Given the description of an element on the screen output the (x, y) to click on. 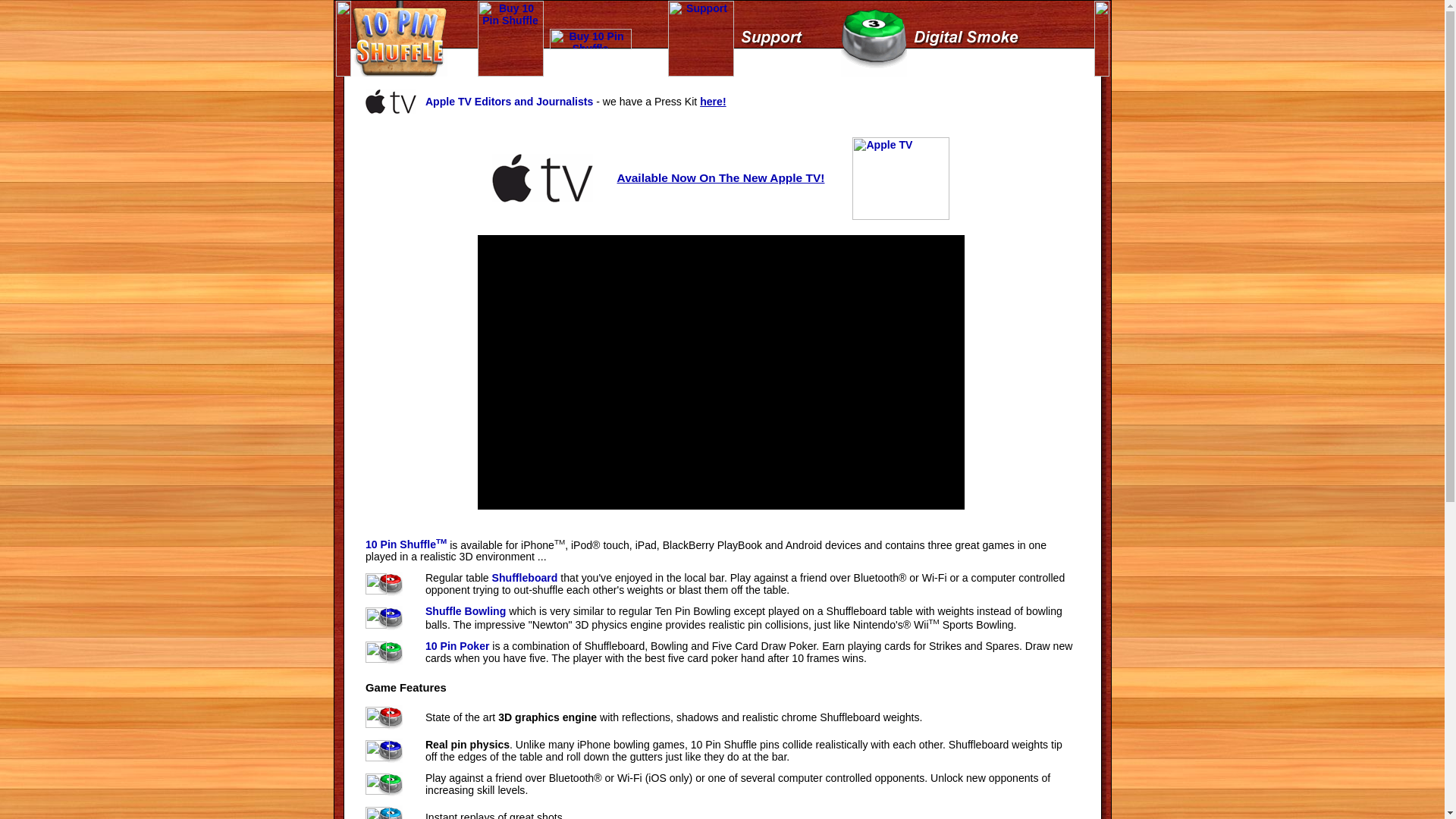
Available Now On The New Apple TV! Element type: text (721, 177)
Digital Smoke's Home Page Element type: hover (873, 38)
Support Element type: hover (772, 38)
Buy 10 Pin Shuffle Element type: hover (589, 38)
Apple TV Press Kit Element type: hover (390, 101)
here! Element type: text (712, 101)
Apple TV Element type: hover (542, 177)
Apple TV Element type: hover (900, 178)
Digital Smoke's Home Page Element type: hover (967, 38)
Buy 10 Pin Shuffle Element type: hover (510, 38)
Support Element type: hover (700, 38)
